Given the description of an element on the screen output the (x, y) to click on. 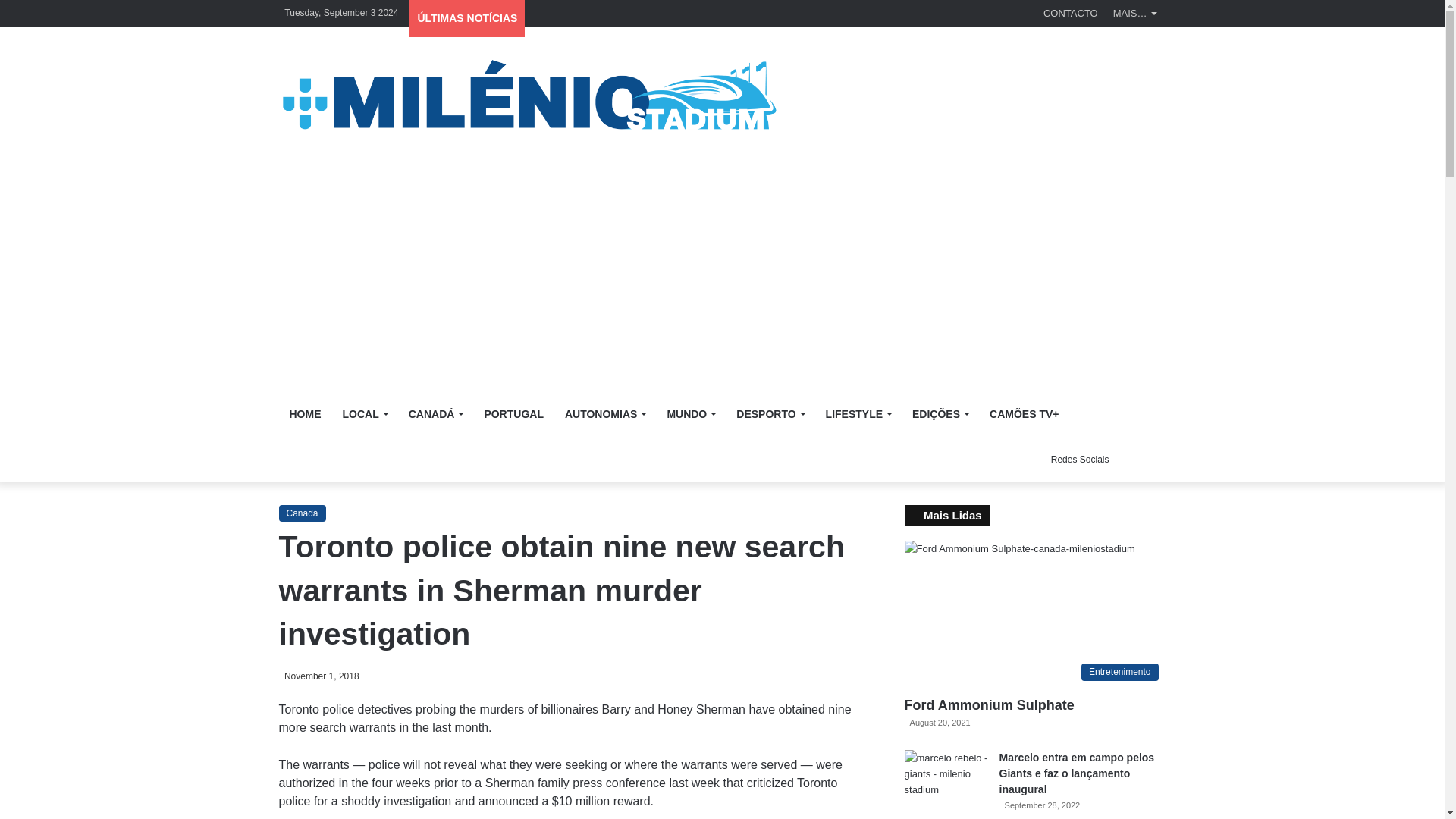
HOME (305, 413)
AUTONOMIAS (605, 413)
LOCAL (364, 413)
PORTUGAL (513, 413)
CONTACTO (1070, 13)
Milenio Stadium (528, 95)
MUNDO (690, 413)
DESPORTO (769, 413)
